Given the description of an element on the screen output the (x, y) to click on. 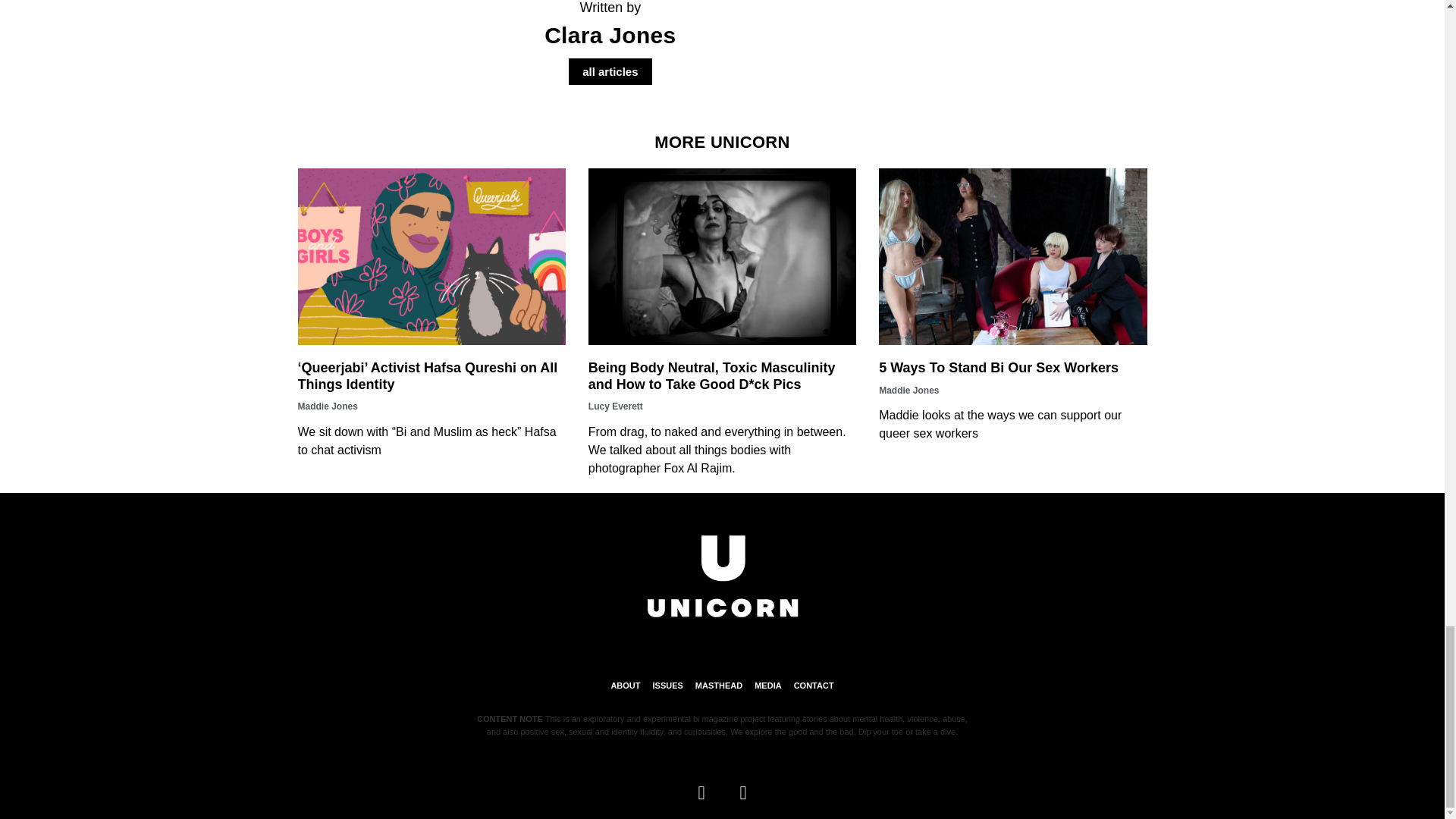
ISSUES (667, 685)
ABOUT (625, 685)
all articles (609, 71)
MASTHEAD (718, 685)
MEDIA (767, 685)
5 Ways To Stand Bi Our Sex Workers (998, 367)
CONTACT (813, 685)
